Given the description of an element on the screen output the (x, y) to click on. 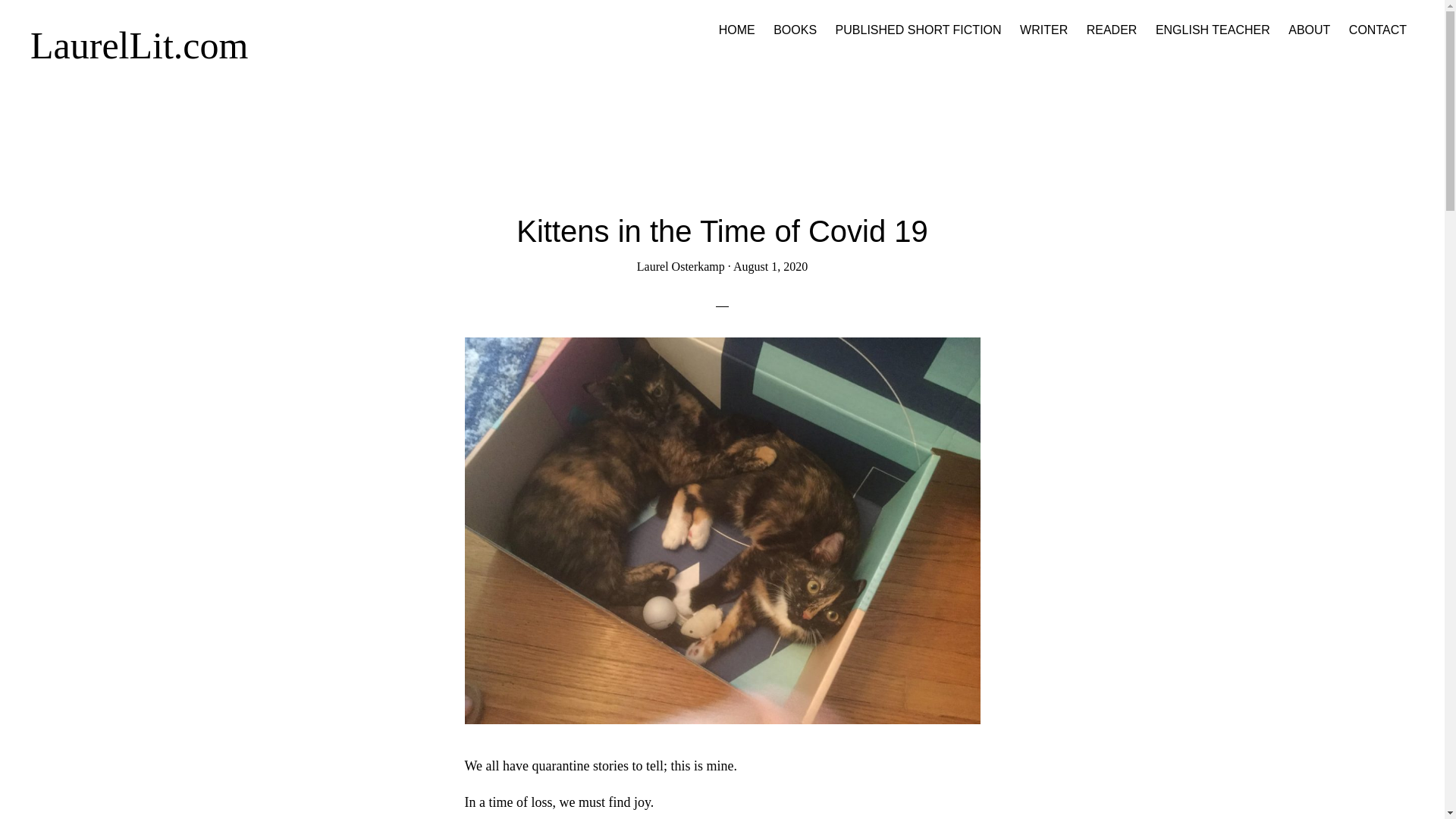
CONTACT (1376, 30)
Laurel Osterkamp (681, 266)
HOME (736, 30)
ABOUT (1309, 30)
ENGLISH TEACHER (1213, 30)
PUBLISHED SHORT FICTION (918, 30)
BOOKS (794, 30)
LaurelLit.com (138, 45)
READER (1111, 30)
